Given the description of an element on the screen output the (x, y) to click on. 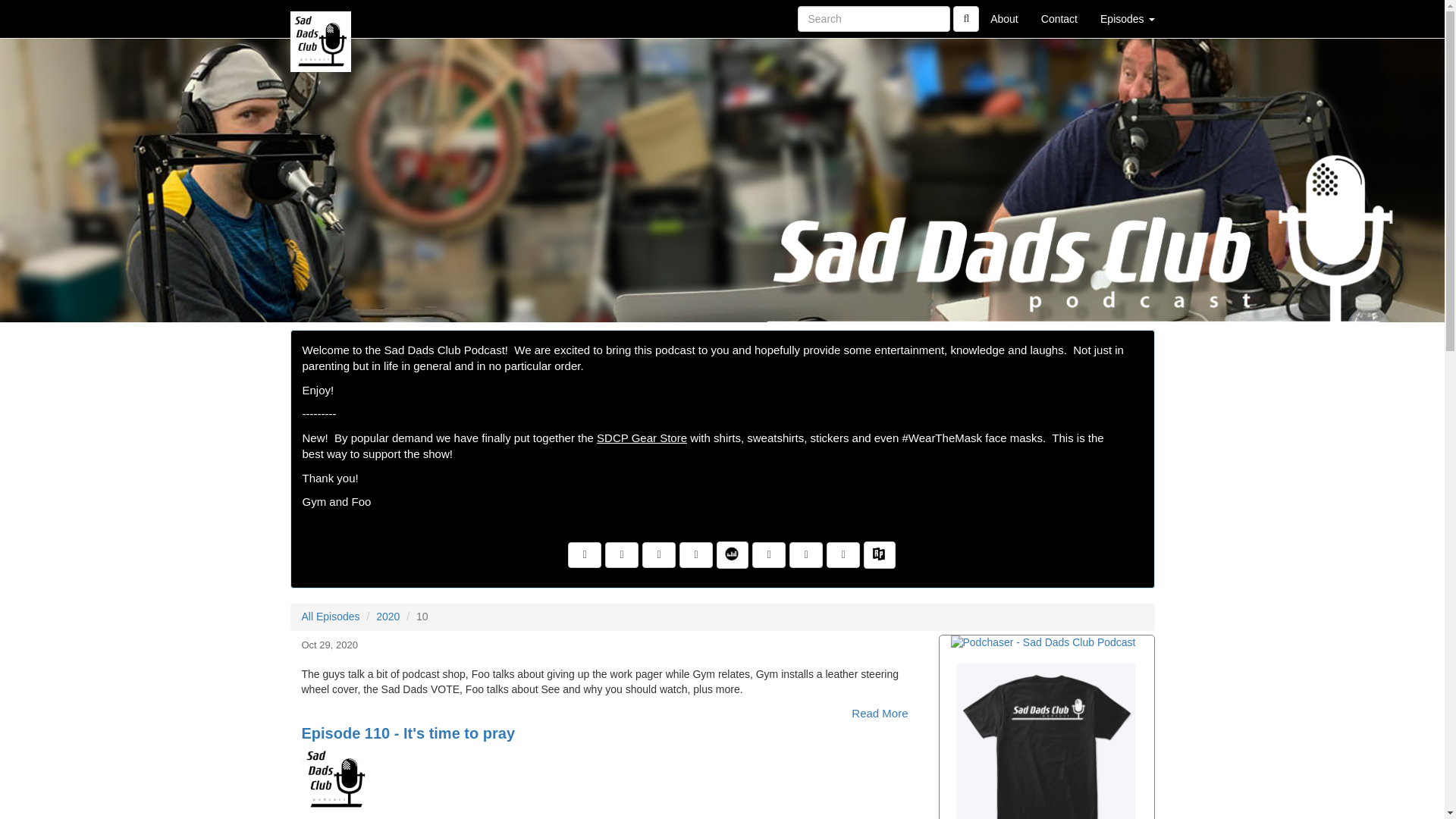
About (1003, 18)
SDCP Gear Store (1046, 738)
Episodes (1127, 18)
Contact (1059, 18)
Episode 110 - It's time to pray (614, 779)
Home Page (320, 18)
SDCP Gear Store (641, 437)
